Given the description of an element on the screen output the (x, y) to click on. 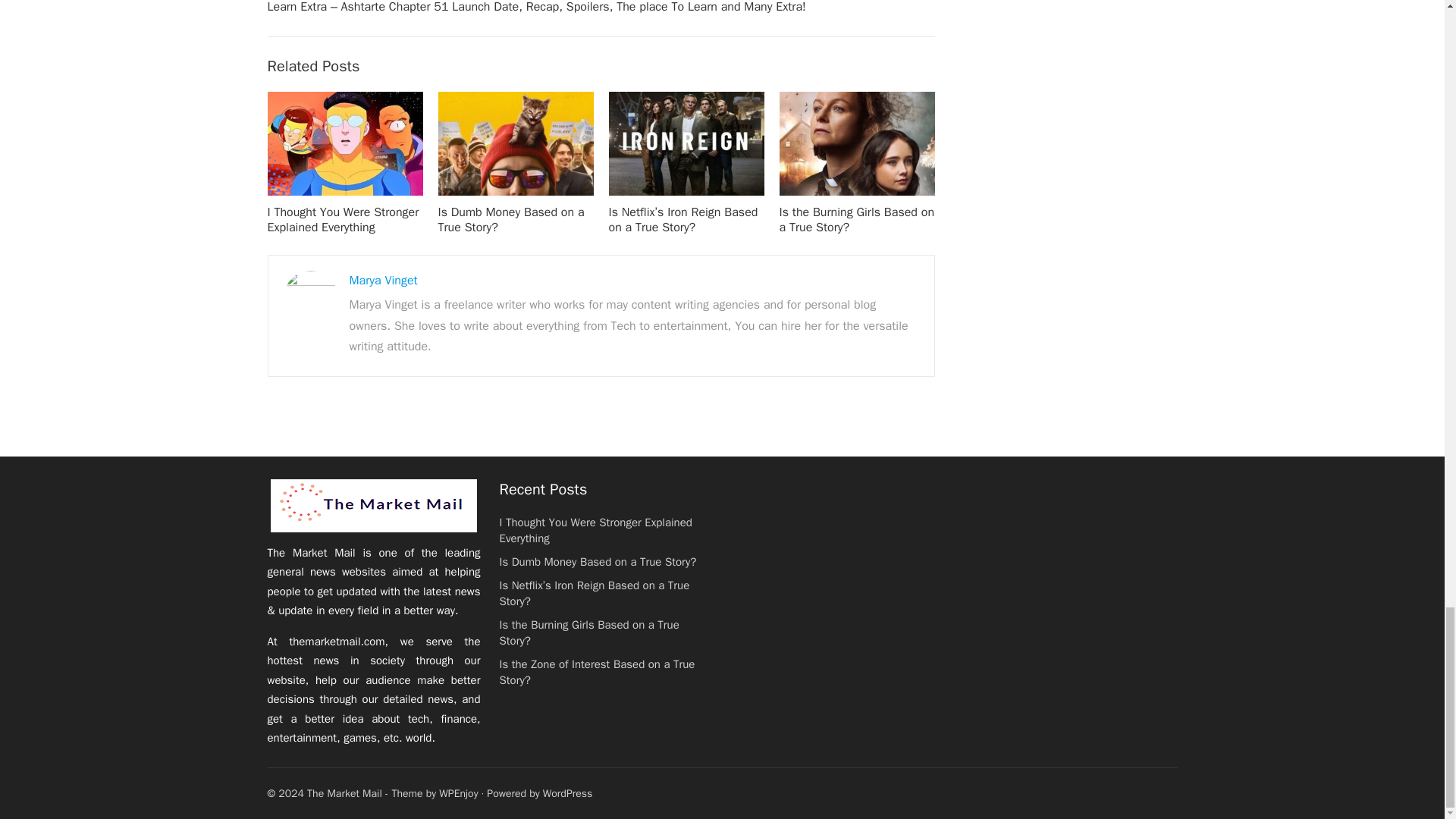
Marya Vinget (382, 280)
Is Dumb Money Based on a True Story? (511, 219)
Is the Burning Girls Based on a True Story? (856, 219)
I Thought You Were Stronger Explained Everything (342, 219)
